Given the description of an element on the screen output the (x, y) to click on. 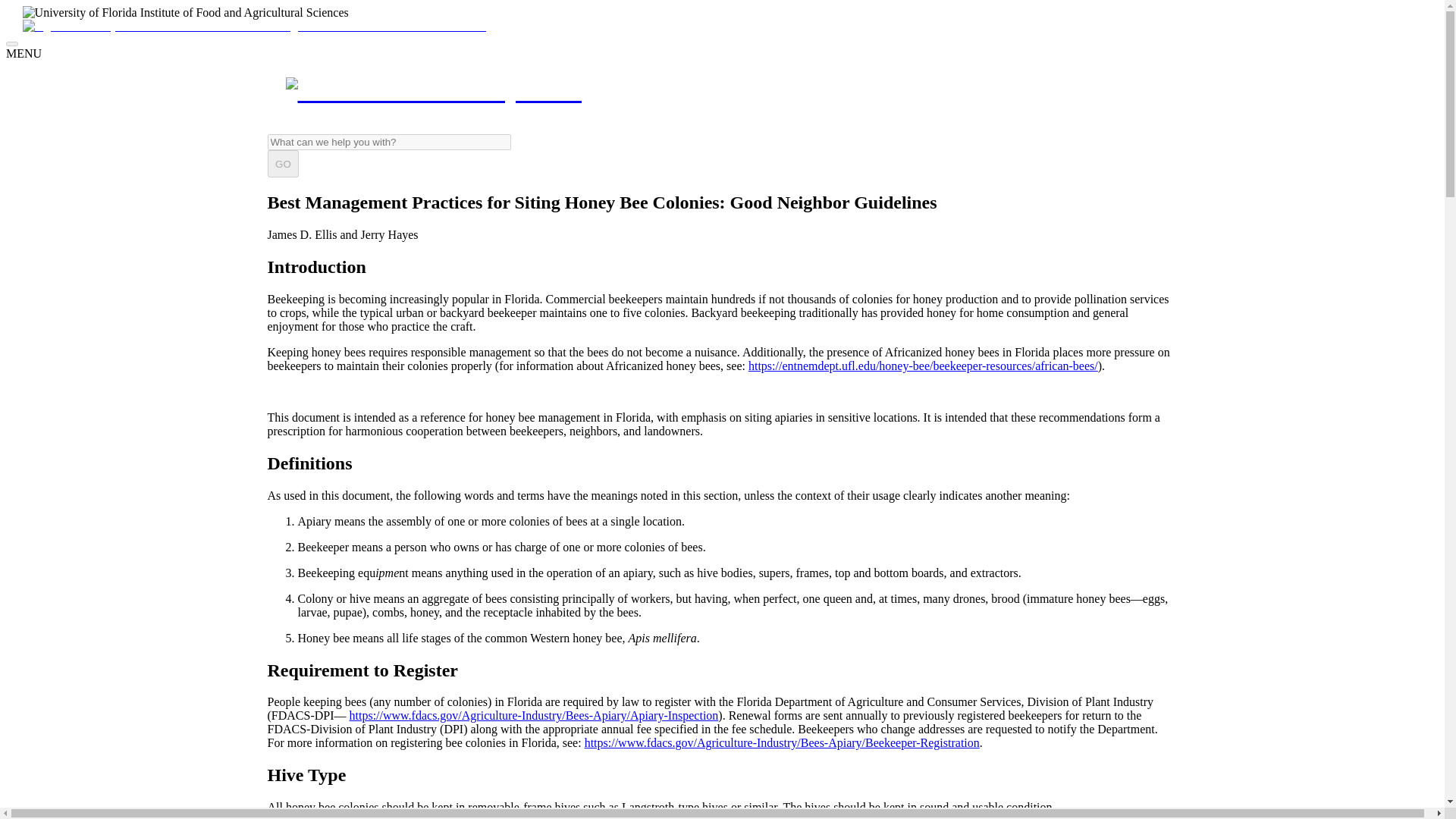
AskIFAS Powered by EDIS (432, 90)
AskIFAS Powered by EDIS (721, 90)
GO (282, 163)
EDIS Search (388, 141)
GO (282, 163)
